Given the description of an element on the screen output the (x, y) to click on. 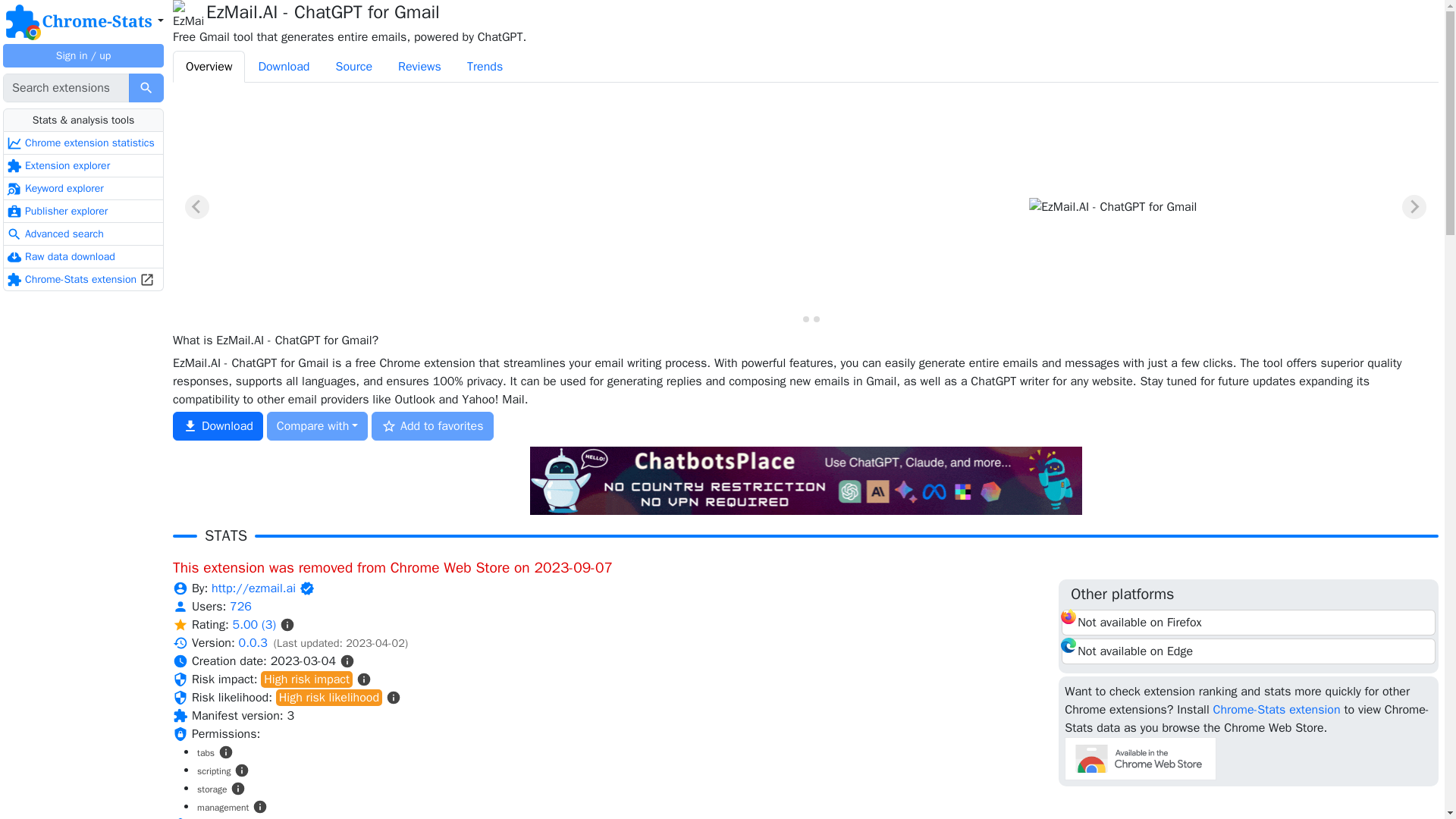
Chrome-Stats extension (82, 279)
Extension explorer (82, 165)
High risk impact (306, 678)
Trends (484, 66)
726 (240, 606)
Source (353, 66)
Reviews (419, 66)
Overview (208, 66)
Video (485, 203)
Compare with (317, 425)
Download (282, 66)
Raw data download (82, 256)
Add to favorites (432, 425)
Advanced search (82, 233)
Chrome extension statistics (82, 142)
